Given the description of an element on the screen output the (x, y) to click on. 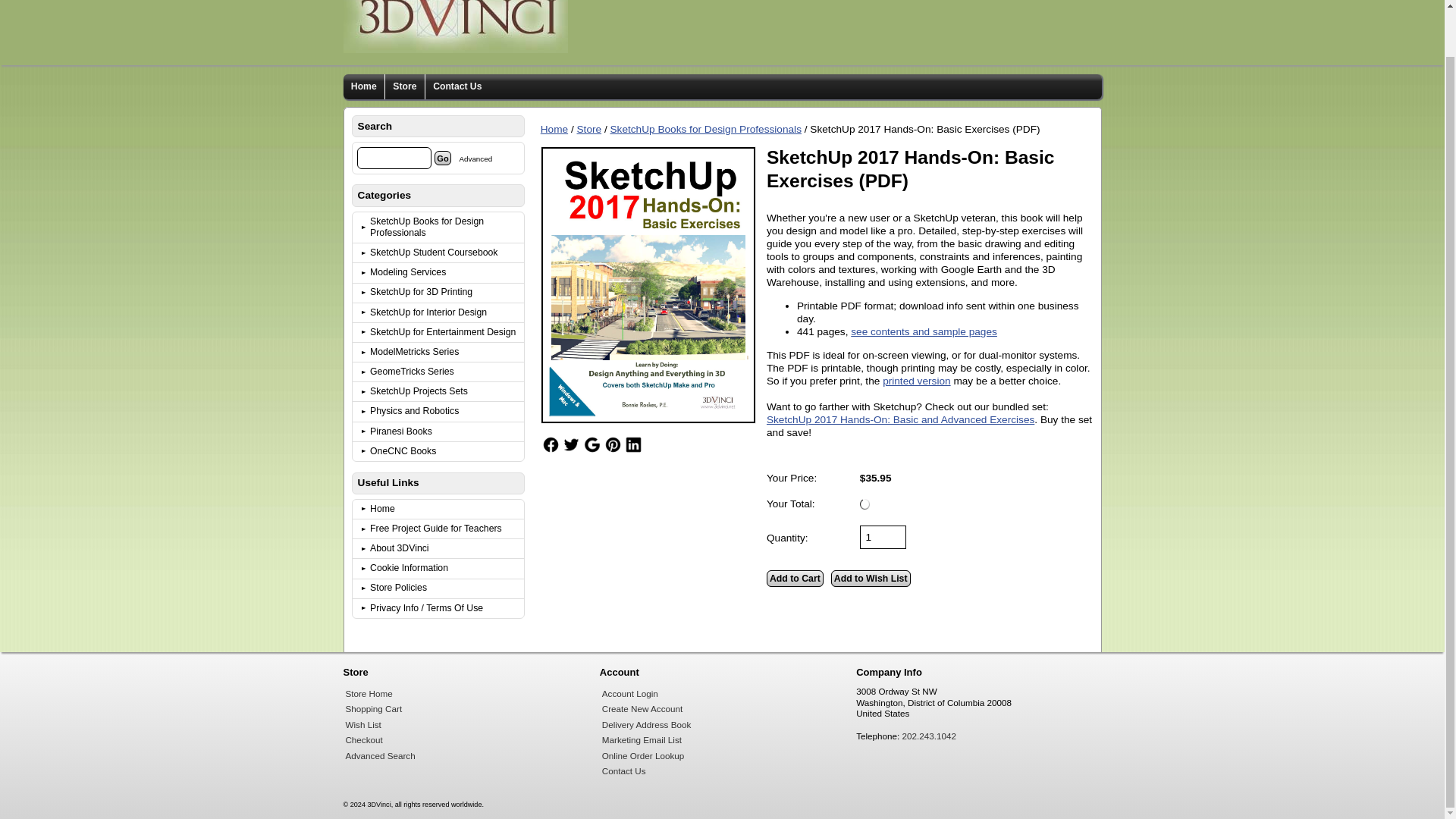
OneCNC Books (445, 451)
ModelMetricks Series (445, 352)
Home (553, 129)
SketchUp for Entertainment Design (445, 332)
Quantity (882, 536)
SketchUp 2017 Hands-On: Basic and Advanced Exercises (900, 419)
Physics and Robotics (445, 411)
Add to Wish List (871, 578)
Store (588, 129)
GeomeTricks Series (445, 371)
SketchUp Books for Design Professionals (445, 227)
Home (445, 508)
Home (553, 129)
SketchUp for 3D Printing (445, 292)
Follow Us (612, 444)
